Given the description of an element on the screen output the (x, y) to click on. 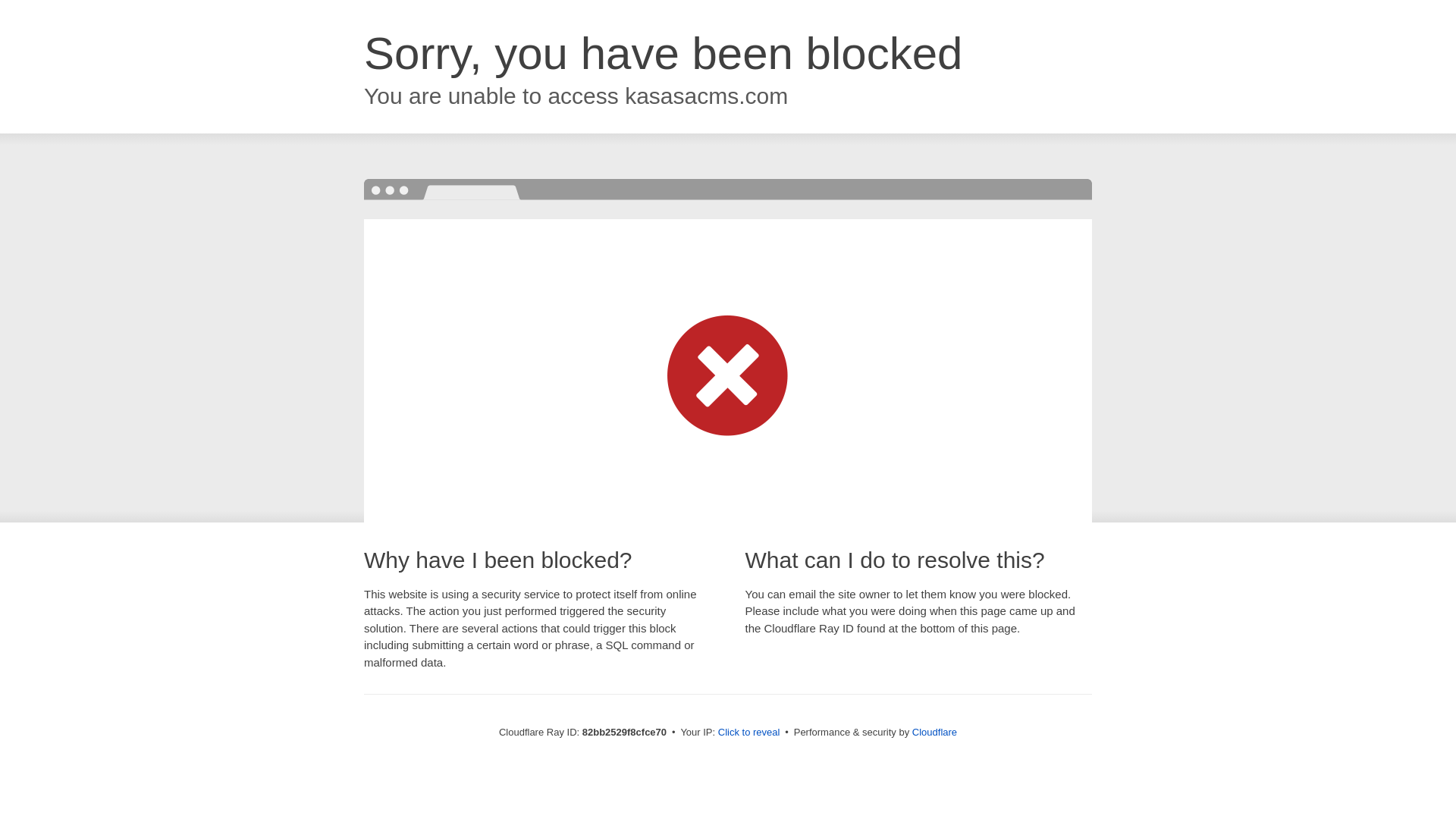
Cloudflare Element type: text (934, 731)
Click to reveal Element type: text (749, 732)
